Given the description of an element on the screen output the (x, y) to click on. 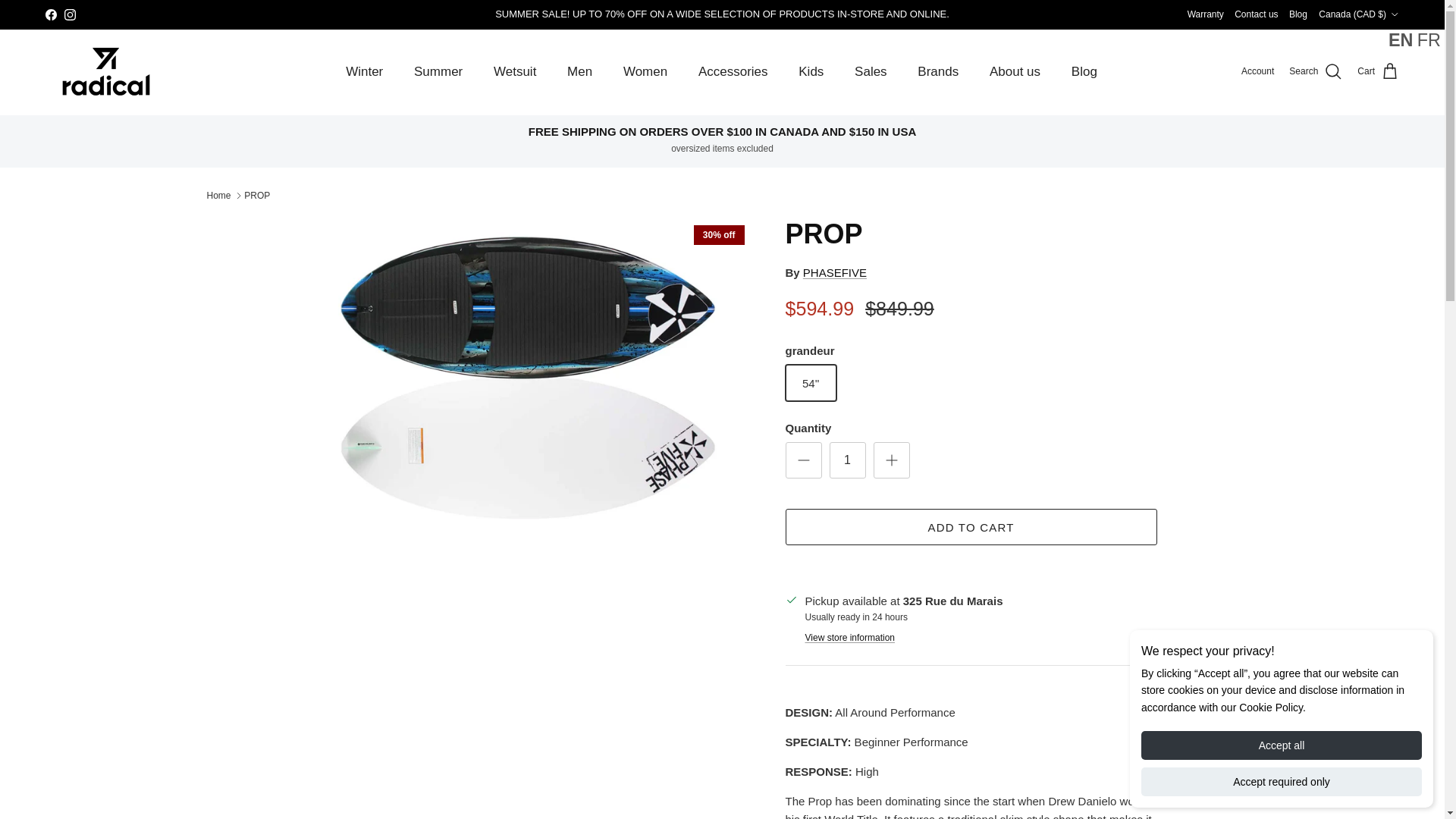
Sales (871, 71)
Women (645, 71)
Instagram (69, 14)
About us (1014, 71)
Kids (810, 71)
Cart (1377, 71)
Accept all (1281, 745)
Winter (363, 71)
Accessories (732, 71)
Summer (438, 71)
